Given the description of an element on the screen output the (x, y) to click on. 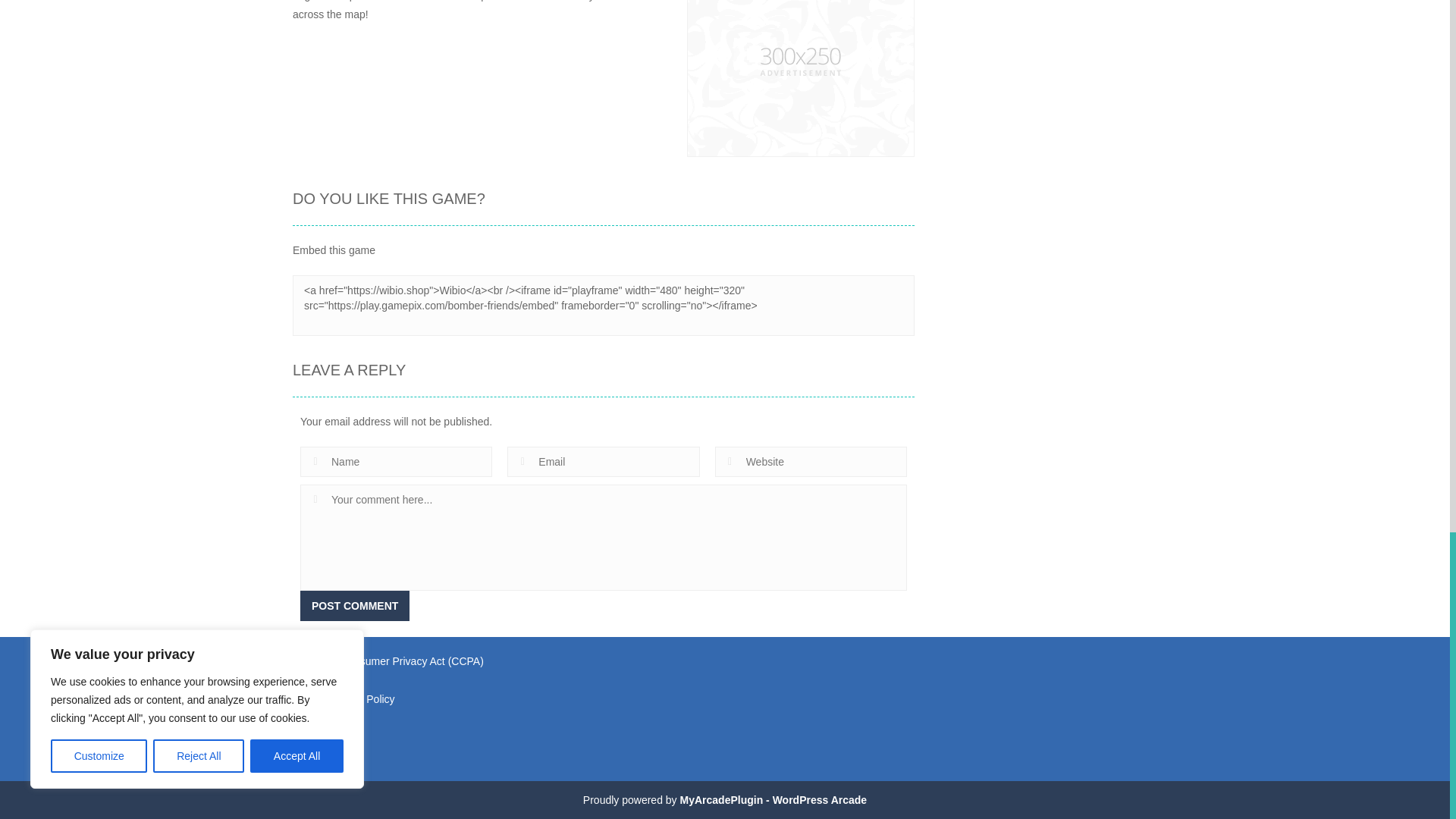
Post Comment (354, 605)
